Given the description of an element on the screen output the (x, y) to click on. 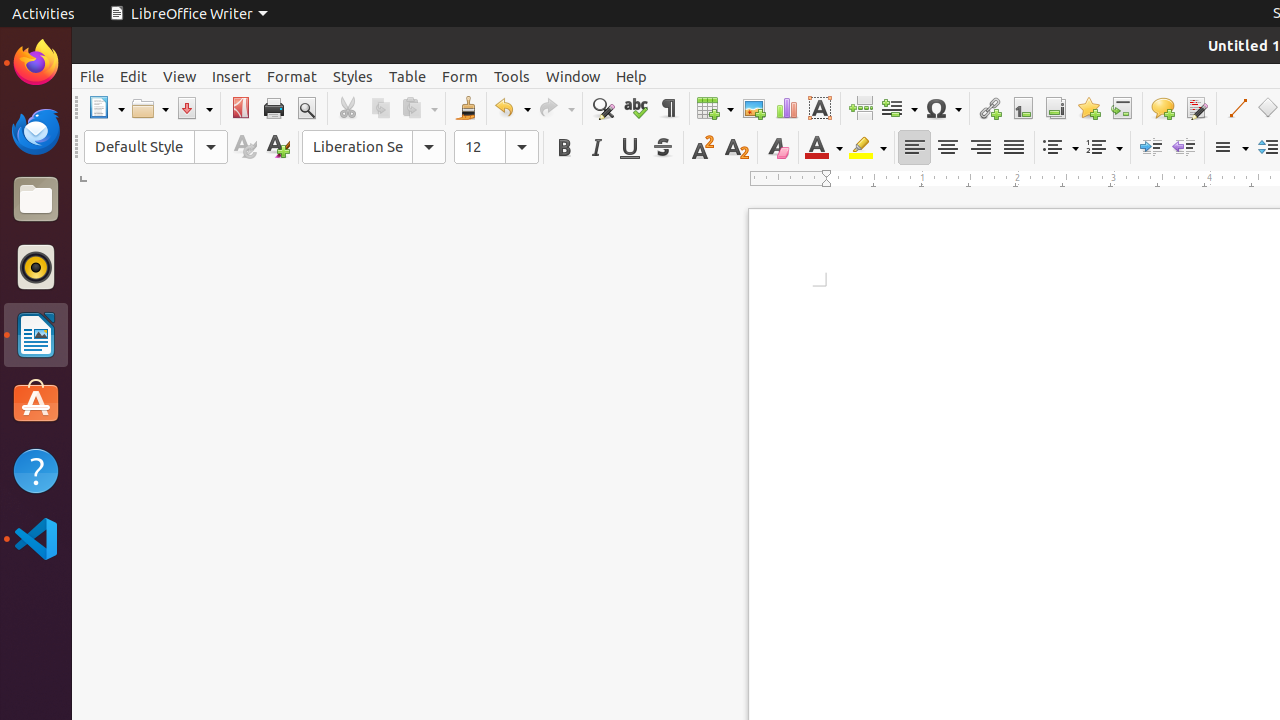
Formatting Marks Element type: toggle-button (668, 108)
New Element type: push-button (277, 147)
Chart Element type: push-button (786, 108)
File Element type: menu (92, 76)
Numbering Element type: push-button (1104, 147)
